Given the description of an element on the screen output the (x, y) to click on. 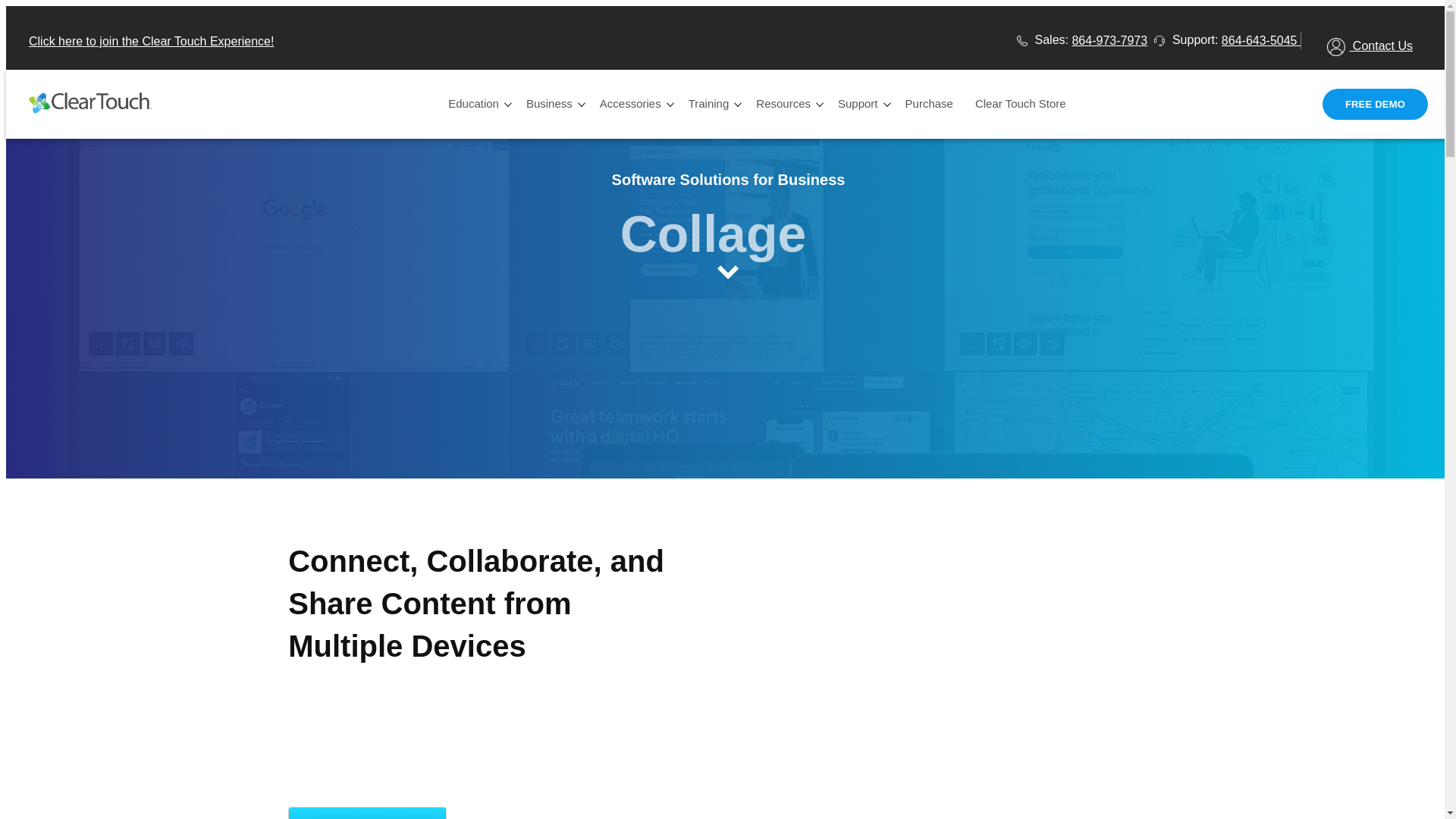
864-973-7973 (1109, 40)
Education (476, 104)
Click here to join the Clear Touch Experience! (151, 41)
Contact Us (1369, 46)
Business (551, 104)
Training (711, 104)
Accessories (633, 104)
YouTube video player (937, 664)
864-643-5045  (1260, 40)
Resources (786, 104)
